Given the description of an element on the screen output the (x, y) to click on. 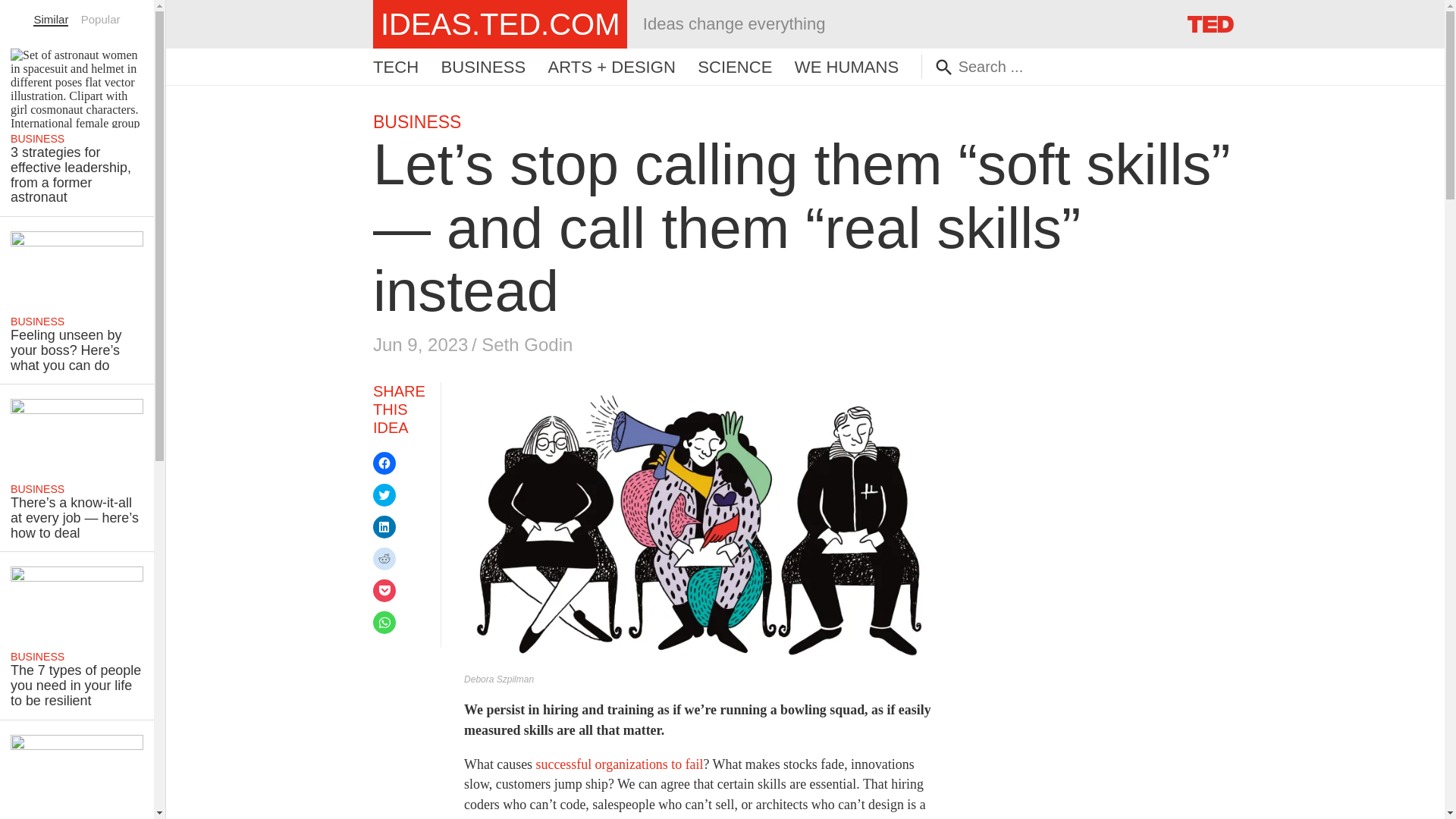
Click to share on Reddit (384, 558)
Click to share on WhatsApp (384, 621)
SCIENCE (734, 66)
WE HUMANS (846, 66)
Search for: (1053, 66)
Seth Godin (526, 344)
successful organizations to fail (619, 764)
BUSINESS (483, 66)
Popular (100, 19)
BUSINESS (416, 121)
